Given the description of an element on the screen output the (x, y) to click on. 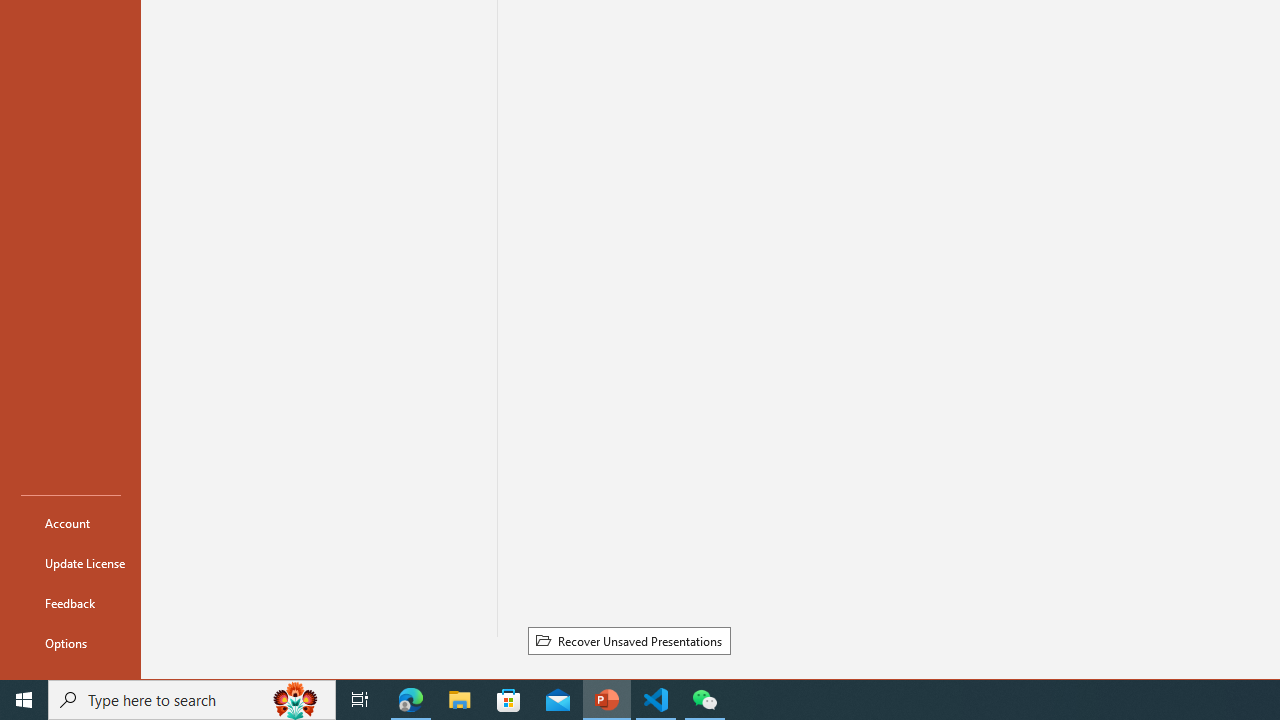
Account (70, 522)
Options (70, 642)
Feedback (70, 602)
WeChat - 1 running window (704, 699)
Update License (70, 562)
Recover Unsaved Presentations (628, 641)
